Given the description of an element on the screen output the (x, y) to click on. 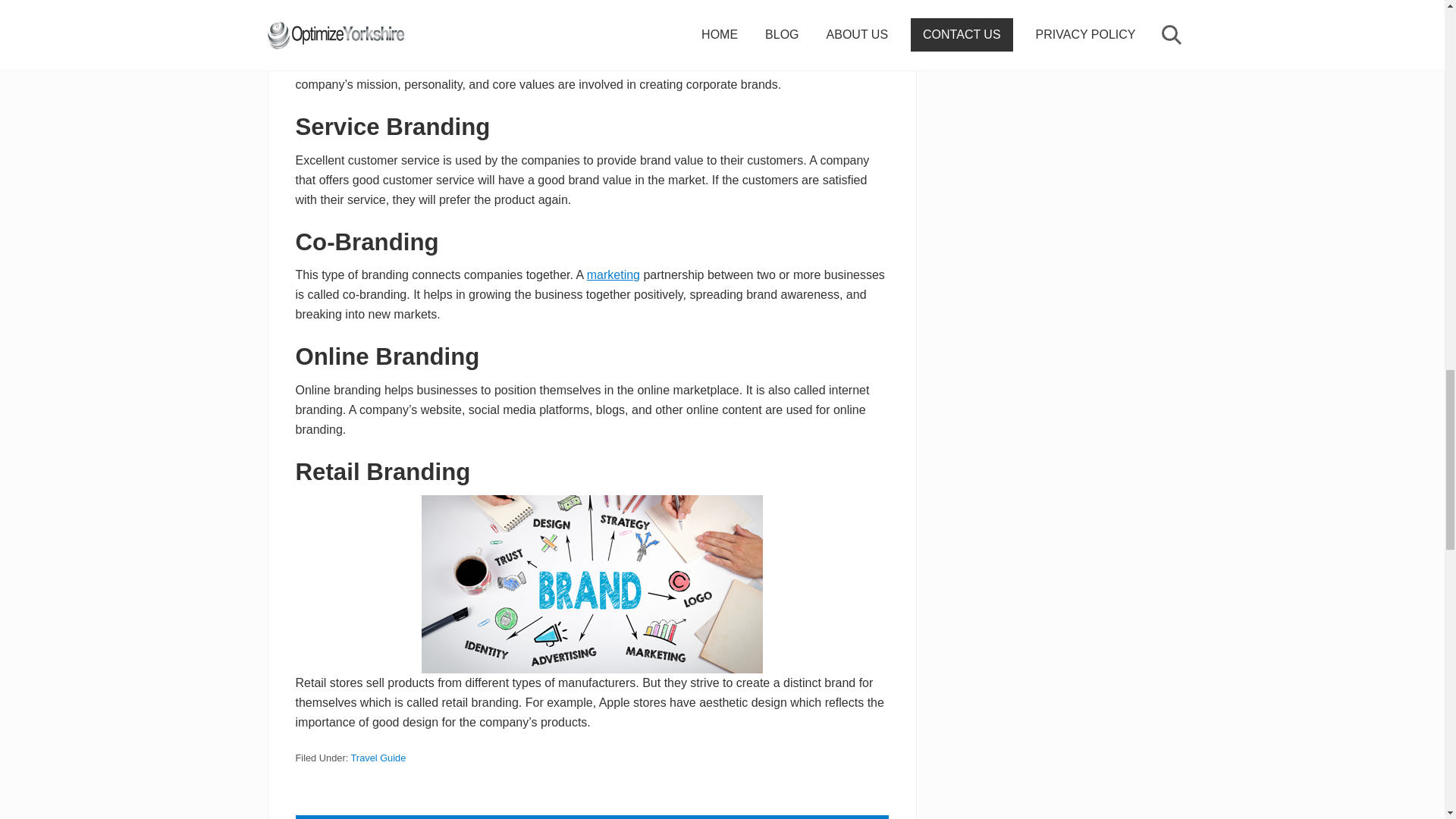
marketing (613, 274)
Travel Guide (378, 757)
